Given the description of an element on the screen output the (x, y) to click on. 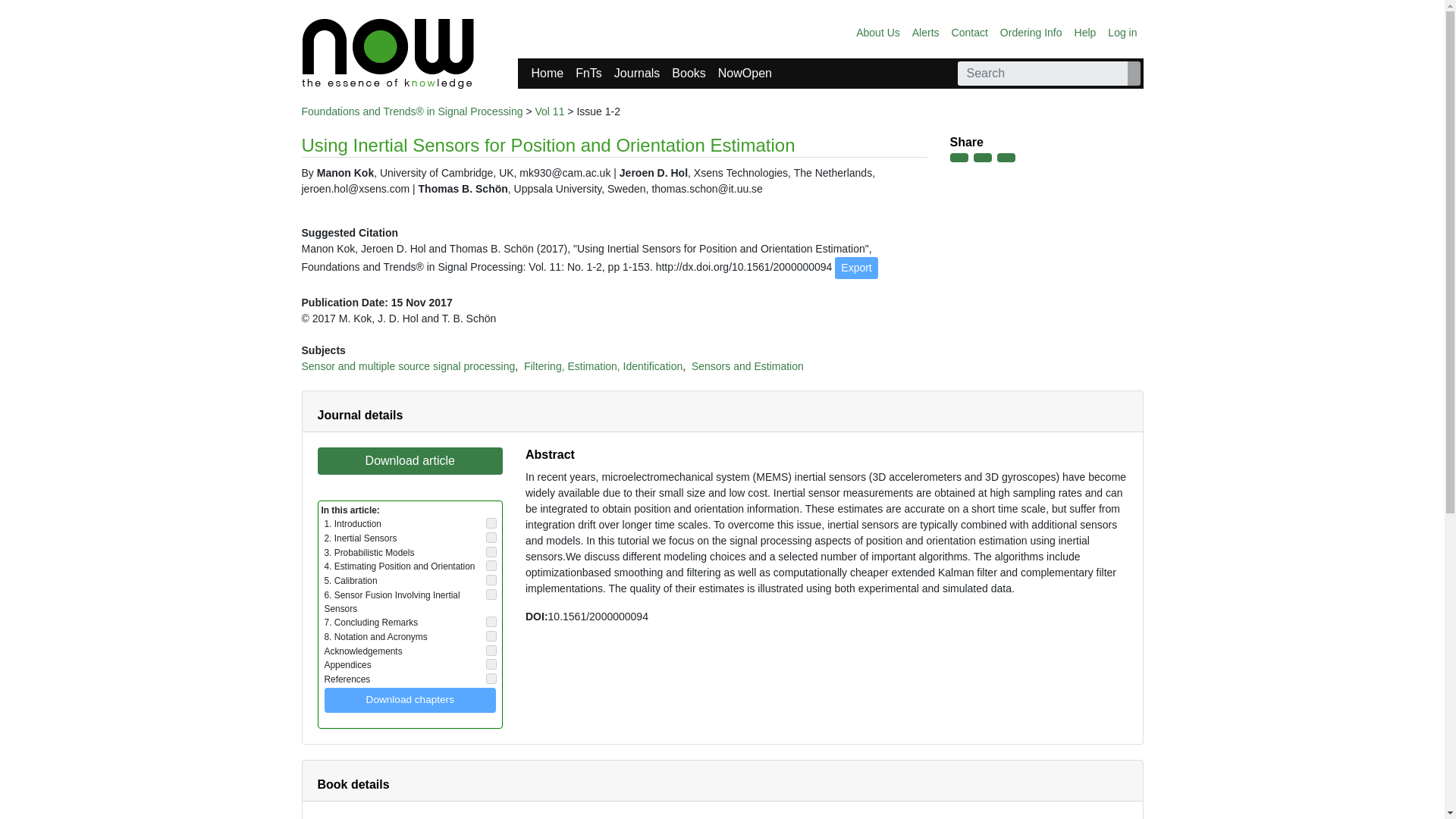
Twitter (982, 157)
Home (546, 73)
Alerts (924, 32)
Journals (636, 73)
Journal details (360, 414)
Contact (969, 32)
Facebook (958, 157)
Books (688, 73)
Sensor and multiple source signal processing (408, 366)
NowOpen (744, 73)
Log in (1122, 32)
About Us (877, 32)
Help (1085, 32)
Export (855, 268)
Vol 11 (549, 111)
